Given the description of an element on the screen output the (x, y) to click on. 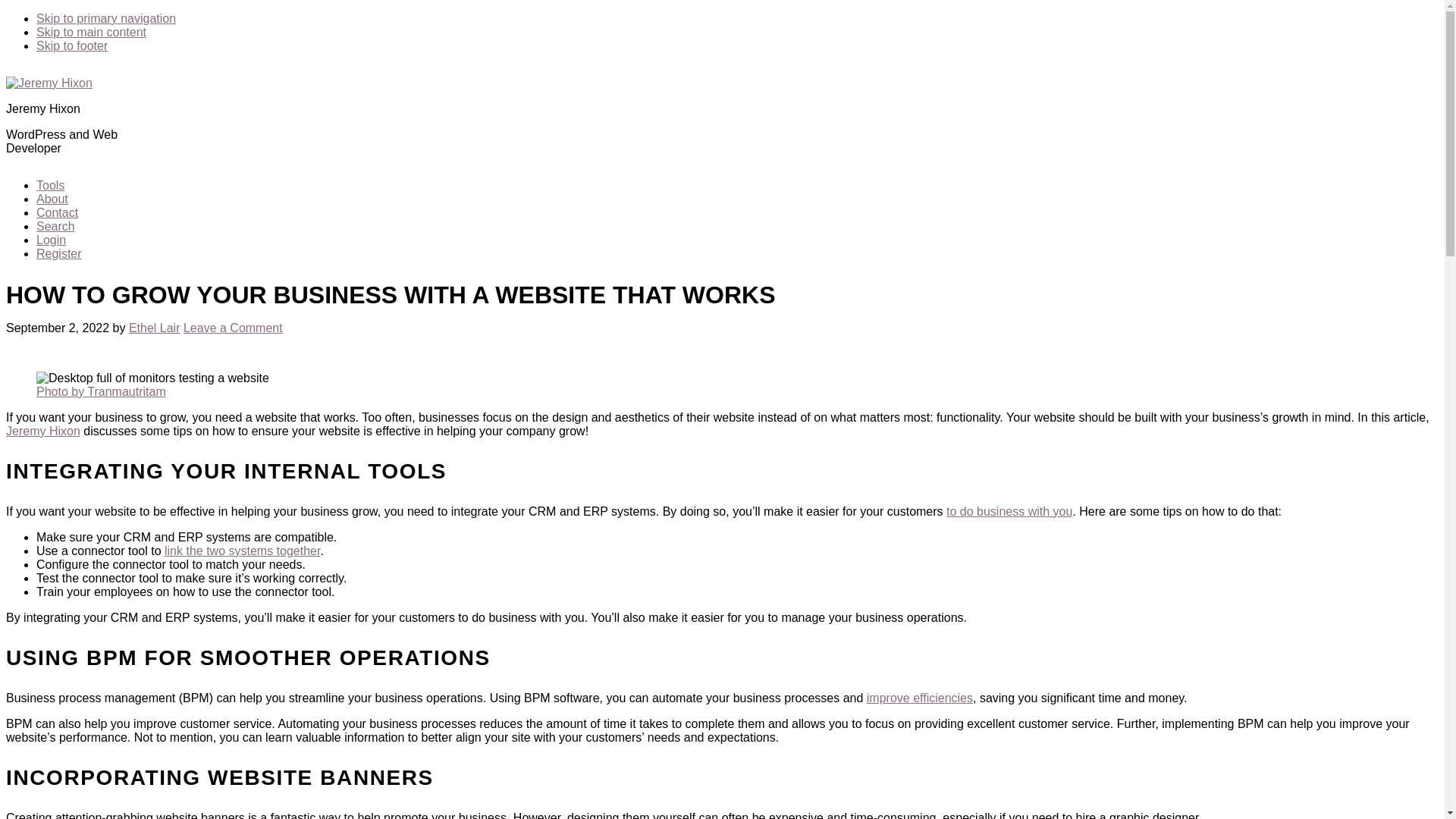
Photo by Tranmautritam (100, 391)
Skip to primary navigation (106, 18)
Leave a Comment (232, 327)
Skip to main content (91, 31)
Tools (50, 185)
Ethel Lair (154, 327)
About (52, 198)
improve efficiencies (919, 697)
Skip to footer (71, 45)
Contact (57, 212)
